Given the description of an element on the screen output the (x, y) to click on. 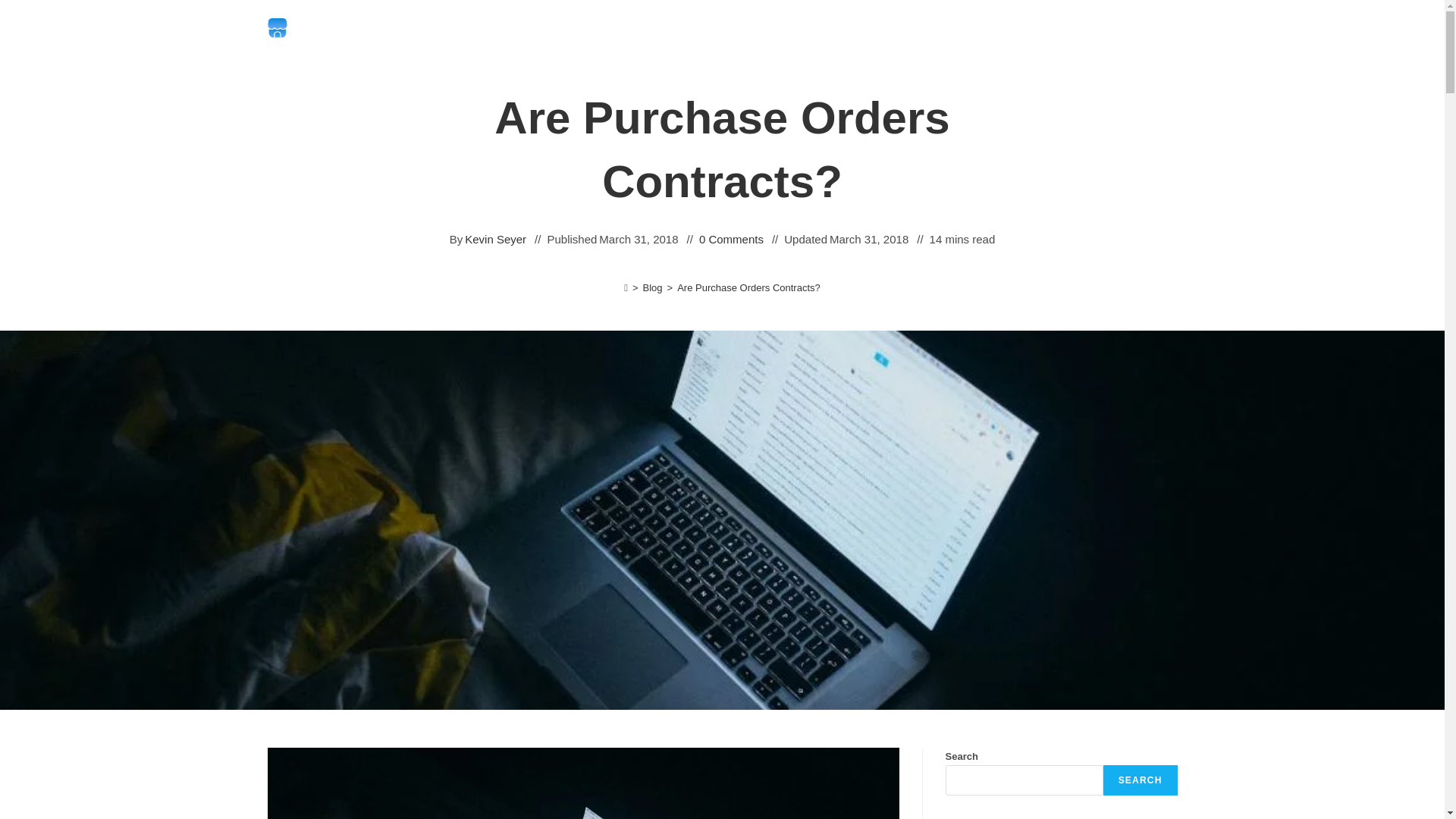
0 Comments (730, 239)
Are Purchase Orders Contracts? (749, 287)
Blog (652, 287)
Kevin Seyer (494, 239)
